Given the description of an element on the screen output the (x, y) to click on. 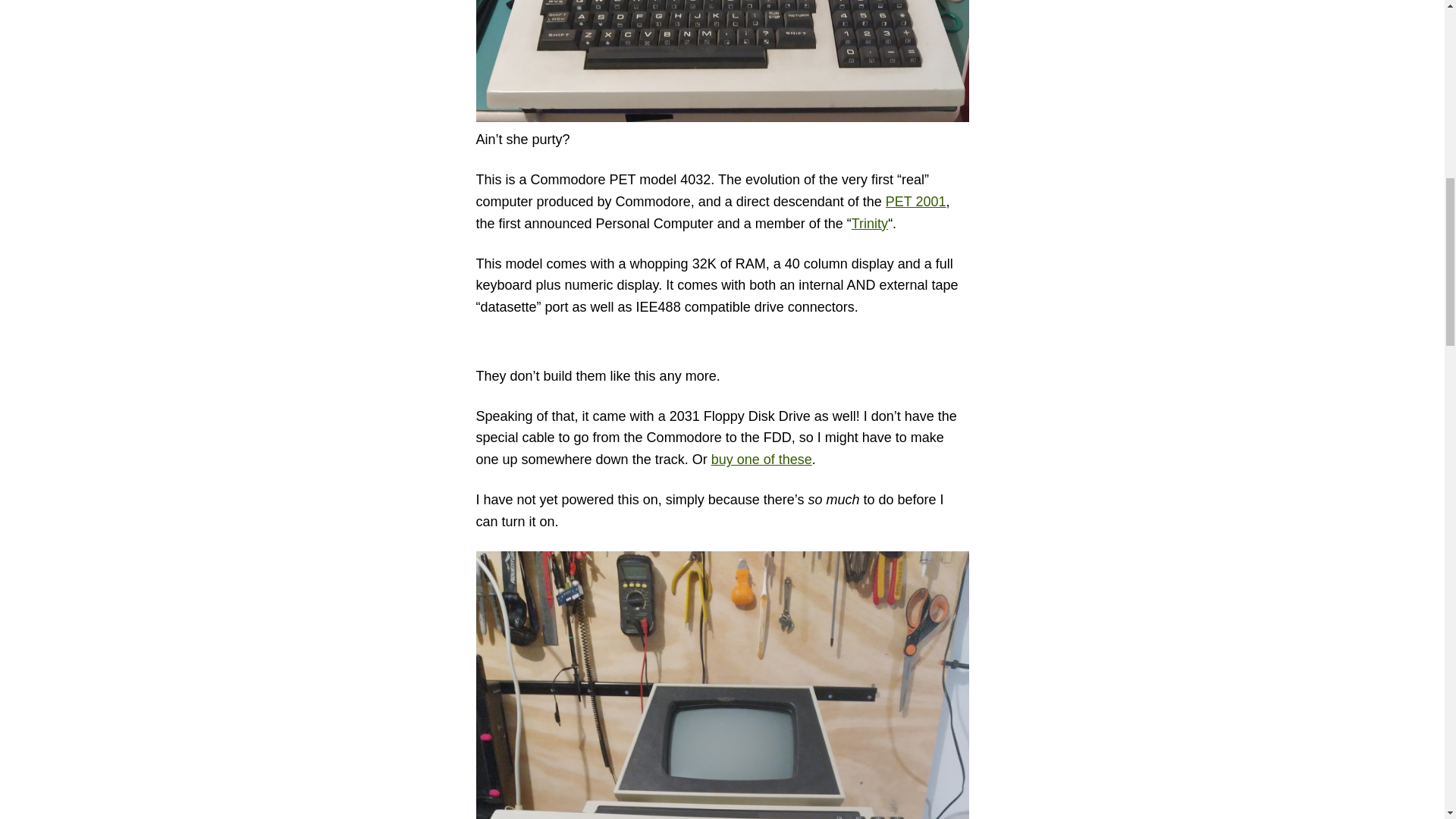
buy one of these (761, 459)
Trinity (869, 223)
PET 2001 (915, 201)
